Given the description of an element on the screen output the (x, y) to click on. 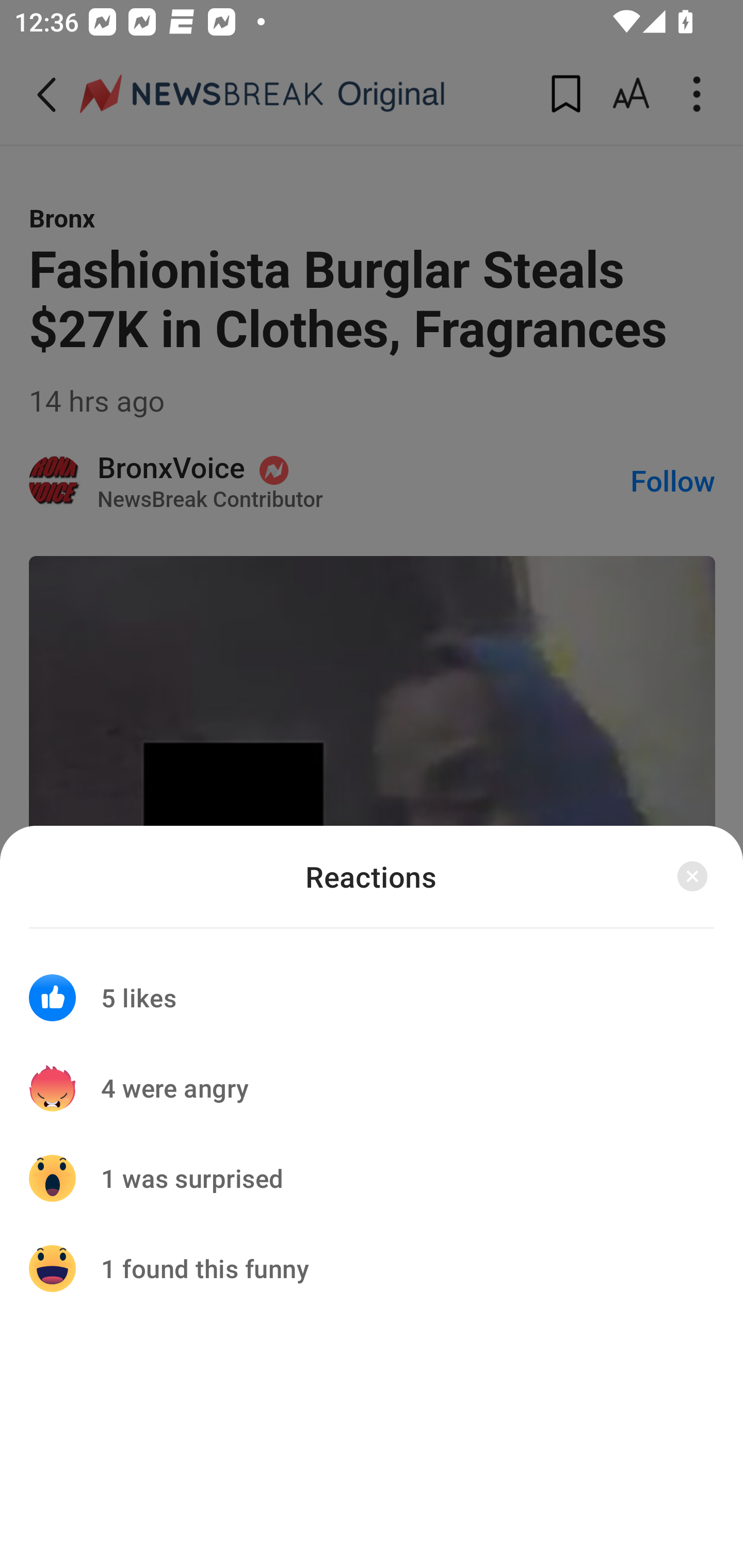
5 likes (371, 985)
4 were angry (371, 1087)
1 was surprised (371, 1178)
1 found this funny (371, 1268)
